Given the description of an element on the screen output the (x, y) to click on. 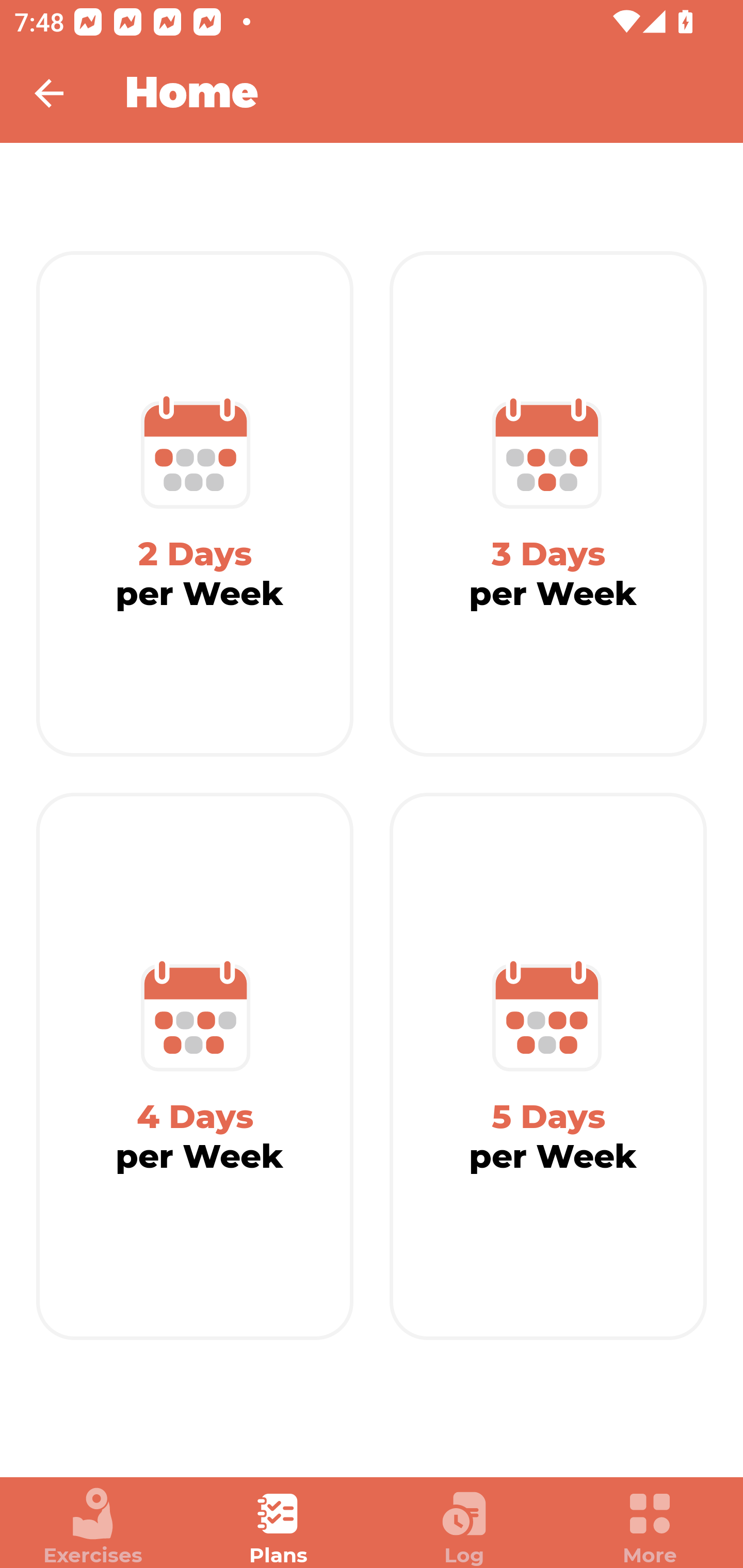
Back (62, 92)
2 Days
 per Week (194, 503)
3 Days
 per Week (547, 503)
4 Days
 per Week (194, 1066)
5 Days
 per Week (547, 1066)
Exercises (92, 1527)
Plans (278, 1527)
Log (464, 1527)
More (650, 1527)
